Given the description of an element on the screen output the (x, y) to click on. 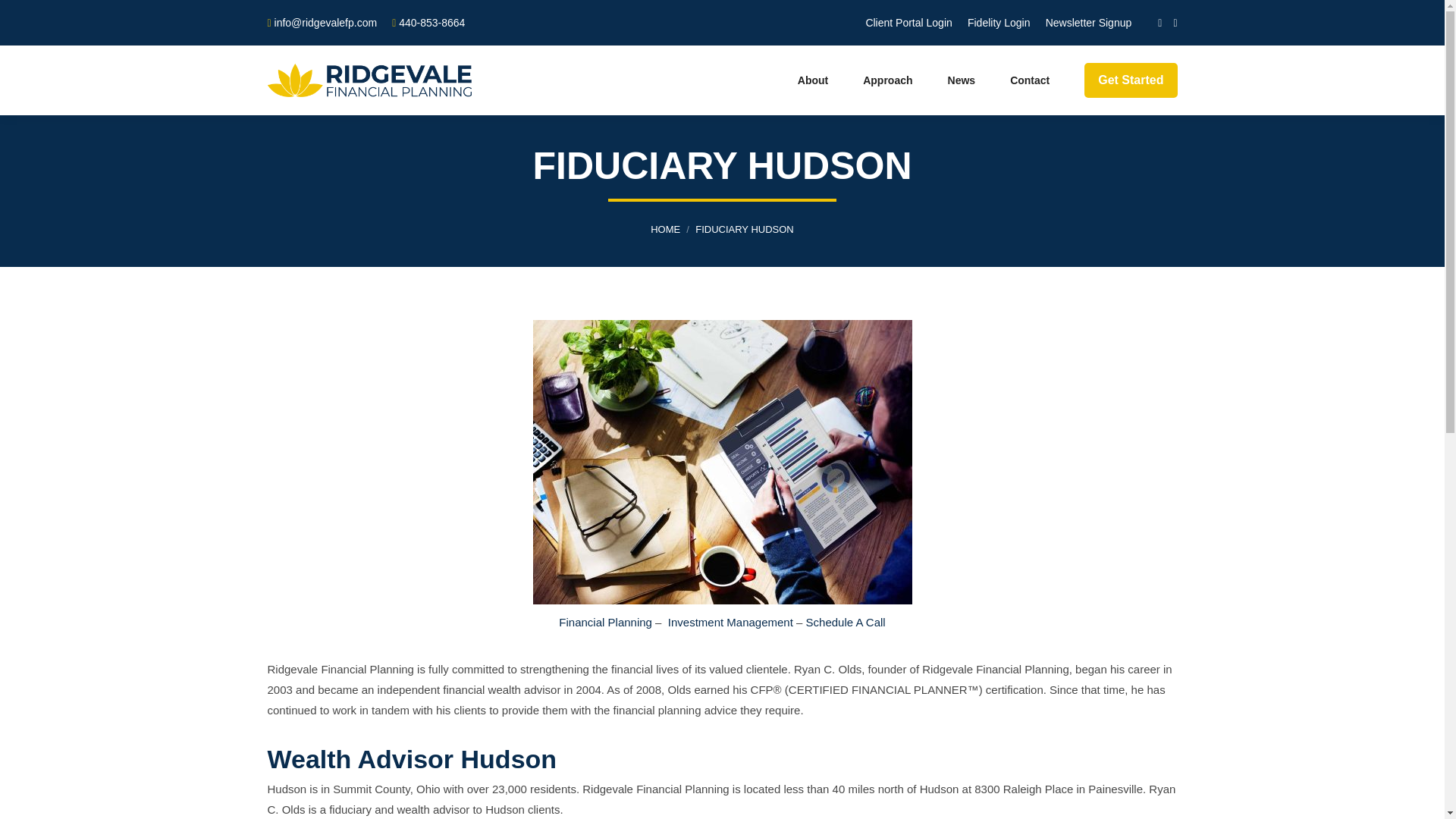
Fidelity Login (999, 22)
Newsletter Signup (1088, 22)
Home (664, 228)
Investment Management (730, 621)
440-853-8664 (431, 22)
Client Portal Login (908, 22)
Financial Planning (605, 621)
HOME (664, 228)
Get Started (1128, 80)
Schedule A Call (845, 621)
